Given the description of an element on the screen output the (x, y) to click on. 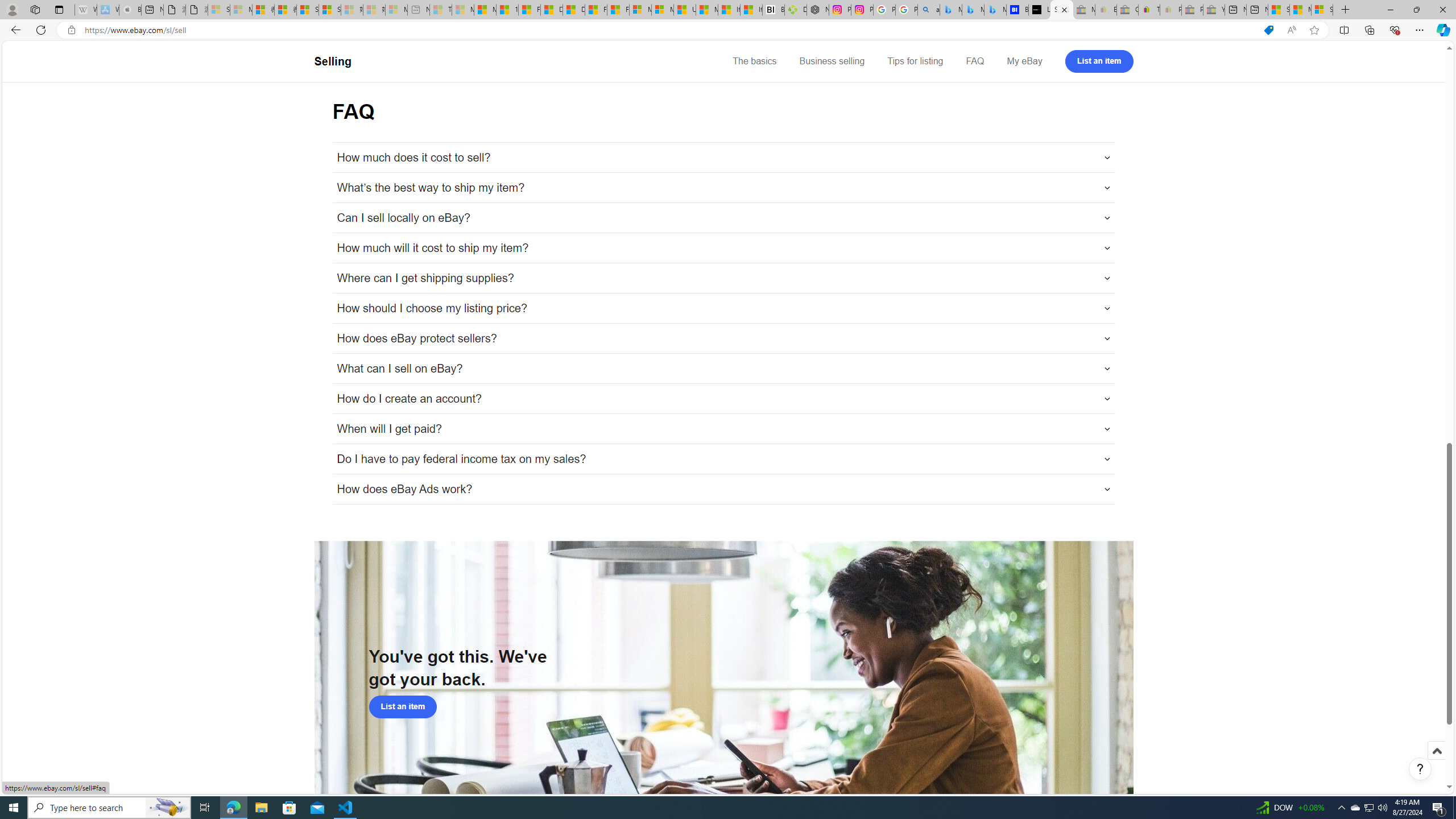
Nordace - Nordace Edin Collection (818, 9)
When will I get paid? (723, 428)
How does eBay Ads work? (723, 488)
Microsoft account | Account Checkup - Sleeping (396, 9)
Food and Drink - MSN (529, 9)
